Given the description of an element on the screen output the (x, y) to click on. 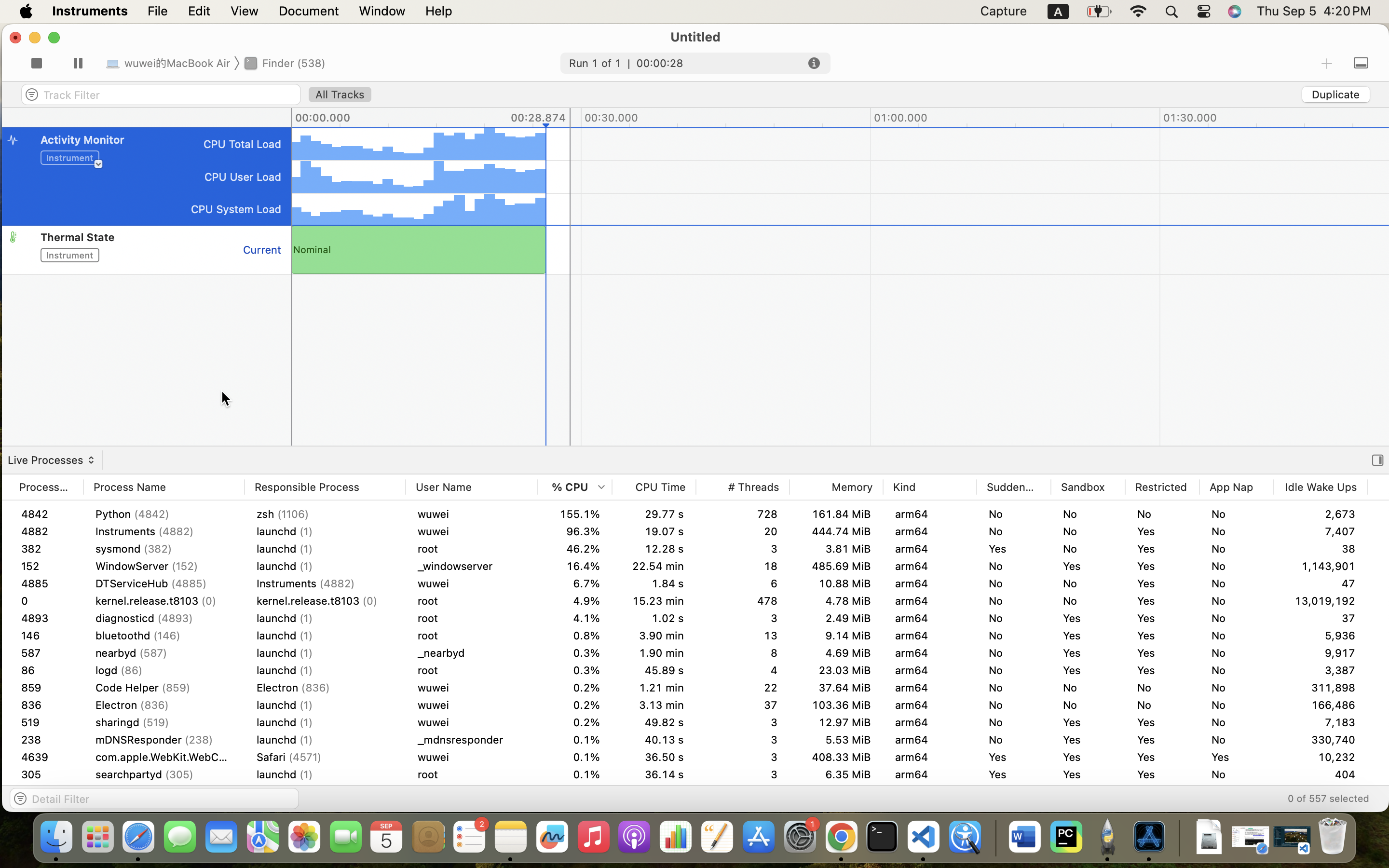
15.22 min Element type: AXStaticText (653, 565)
_windowserver Element type: AXStaticText (471, 565)
0.1% Element type: AXStaticText (574, 756)
21 Element type: AXStaticText (1320, 583)
0.4285714328289032 Element type: AXDockItem (993, 837)
